Given the description of an element on the screen output the (x, y) to click on. 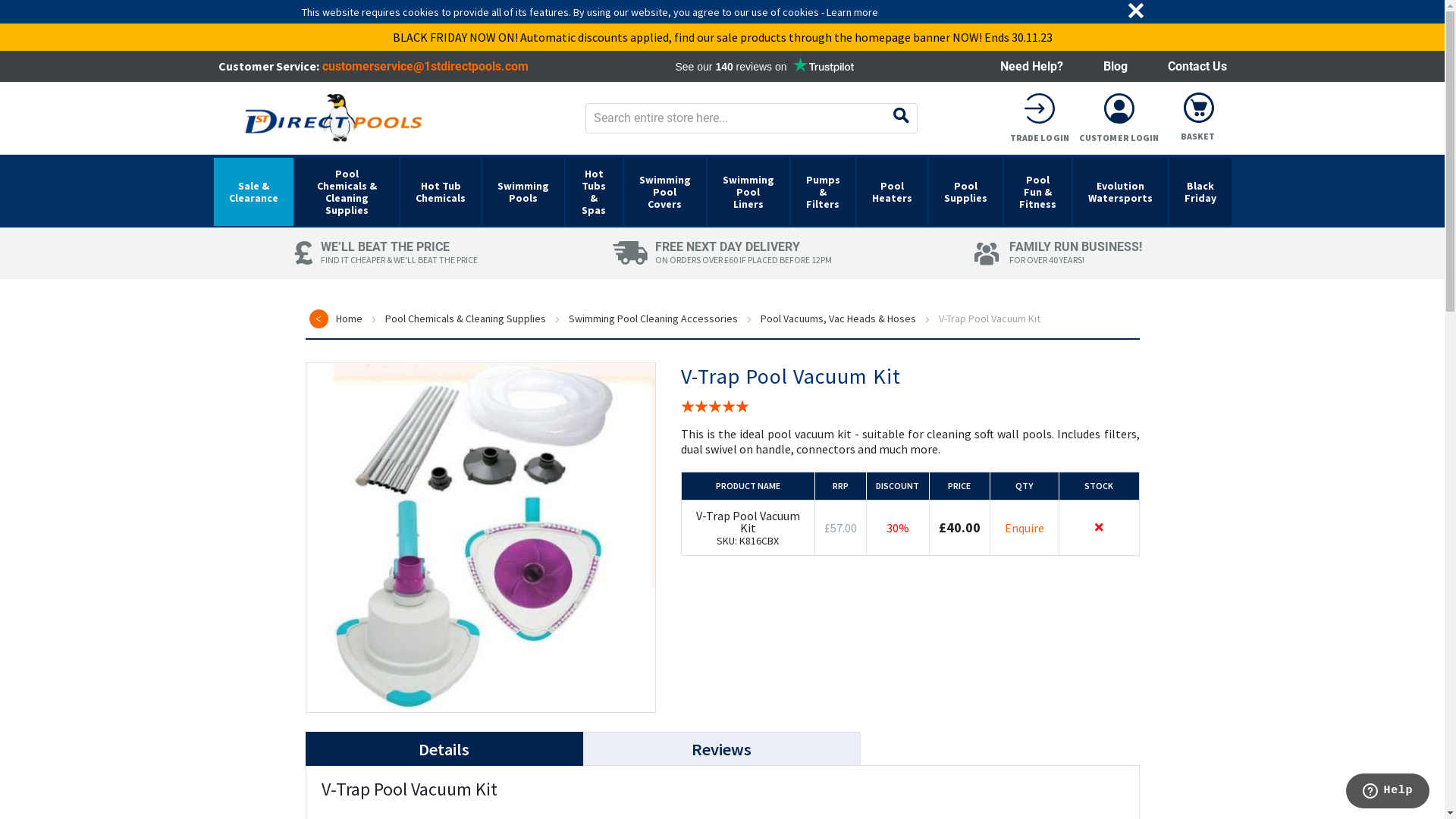
Hot Tub Chemicals Element type: text (440, 191)
Pool Supplies Element type: text (965, 191)
Swimming Pool Liners Element type: text (748, 191)
Pool Chemicals & Cleaning Supplies Element type: text (465, 318)
Sale & Clearance Element type: text (252, 191)
Skip to the end of the images gallery Element type: text (304, 361)
customerservice@1stdirectpools.com Element type: text (424, 66)
CUSTOMER LOGIN Element type: text (1119, 118)
TRADE LOGIN Element type: text (1039, 118)
Search Element type: hover (897, 118)
Need Help? Element type: text (1030, 66)
Enquire Element type: text (1024, 527)
Swimming Pool Covers Element type: text (664, 191)
Swimming Pools Element type: text (522, 191)
100% Element type: hover (714, 406)
Pool Vacuums, Vac Heads & Hoses Element type: text (837, 318)
Hot Tubs & Spas Element type: text (593, 191)
Details Element type: text (443, 748)
Pool Heaters Element type: text (891, 191)
Contact Us Element type: text (1196, 66)
Blog Element type: text (1114, 66)
Pumps & Filters Element type: text (823, 191)
Learn more Element type: text (852, 11)
Opens a widget where you can chat to one of our agents Element type: hover (1387, 792)
Pool Fun & Fitness Element type: text (1036, 191)
Evolution Watersports Element type: text (1120, 191)
Skip to the beginning of the images gallery Element type: text (655, 361)
BASKET Element type: text (1197, 116)
Home Element type: text (348, 318)
Black Friday Element type: text (1199, 191)
Customer reviews powered by Trustpilot Element type: hover (764, 66)
Reviews Element type: text (720, 748)
Swimming Pool Cleaning Accessories Element type: text (652, 318)
Pool Chemicals & Cleaning Supplies Element type: text (347, 191)
